Given the description of an element on the screen output the (x, y) to click on. 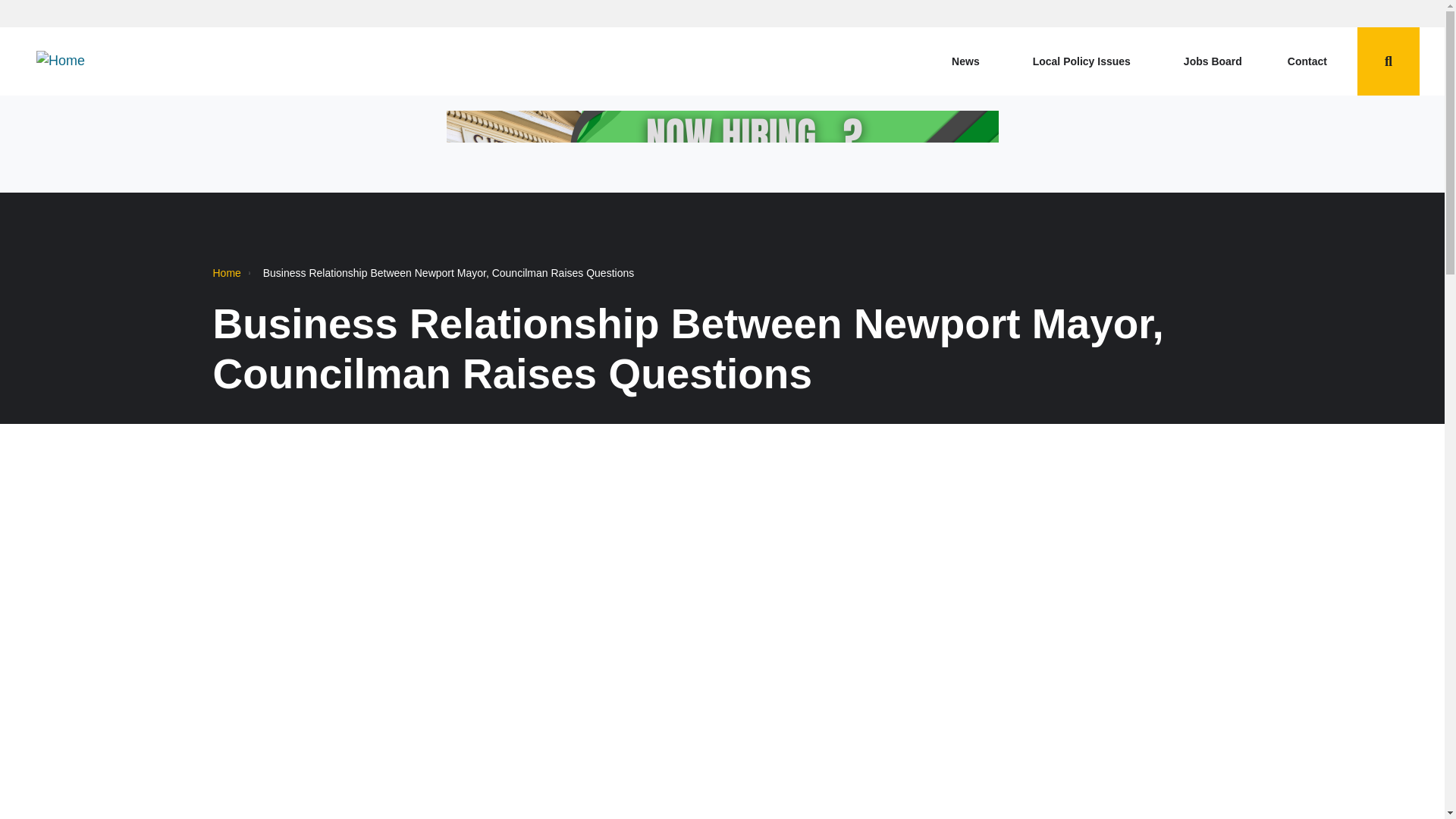
Local Policy Issues (1085, 61)
Home (60, 60)
Jobs Board (1212, 61)
Home (226, 272)
